Given the description of an element on the screen output the (x, y) to click on. 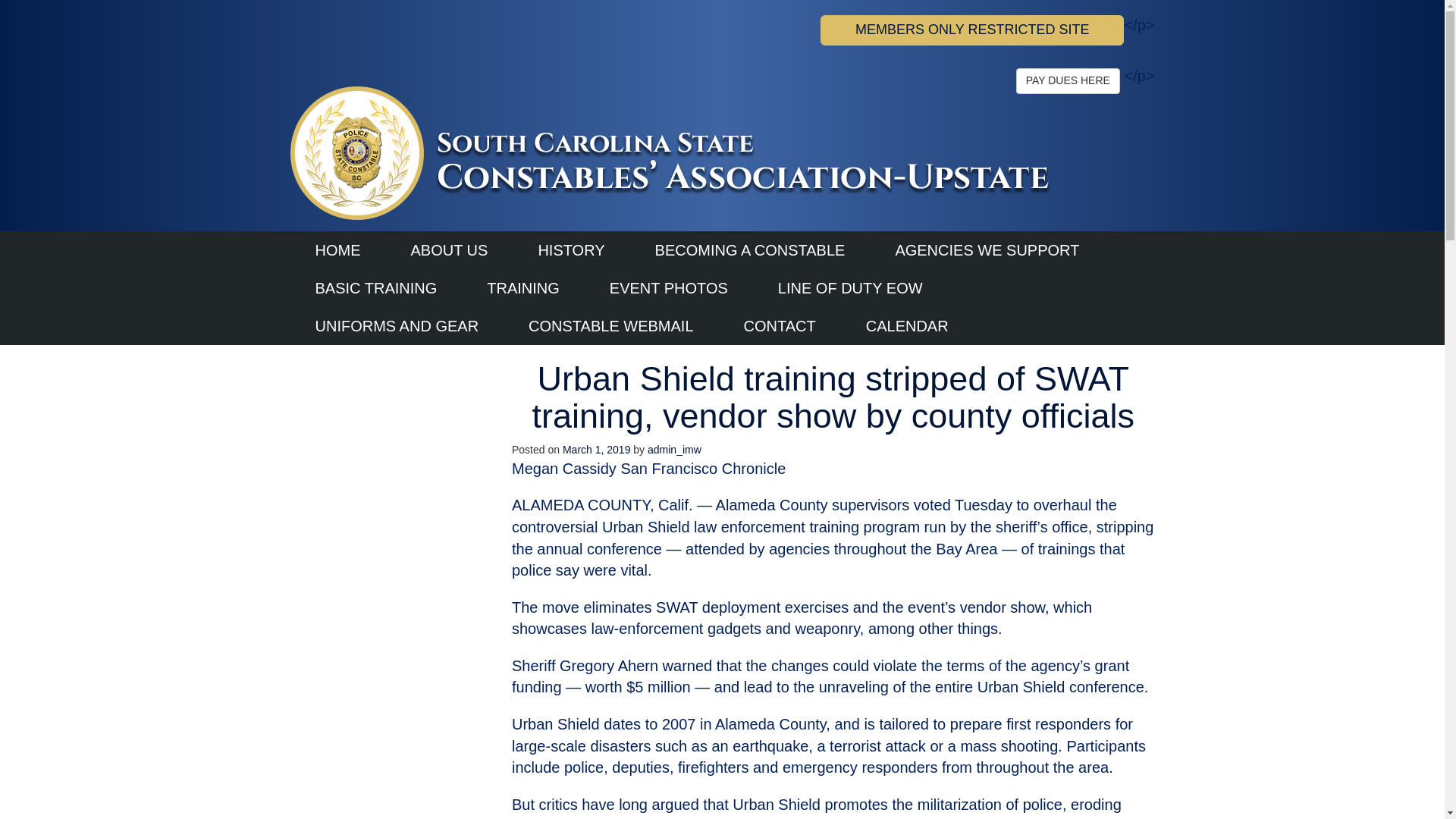
AGENCIES WE SUPPORT (986, 249)
AGENCIES WE SUPPORT (986, 249)
TRAINING (523, 288)
UNIFORMS AND GEAR (396, 325)
CONTACT (780, 325)
HISTORY (570, 249)
March 1, 2019 (596, 449)
PAY DUES HERE (1067, 80)
CALENDAR (907, 325)
ABOUT US (448, 249)
CALENDAR (907, 325)
BASIC TRAINING (375, 288)
HOME (337, 249)
CONSTABLE WEBMAIL (610, 325)
BECOMING A CONSTABLE (750, 249)
